Given the description of an element on the screen output the (x, y) to click on. 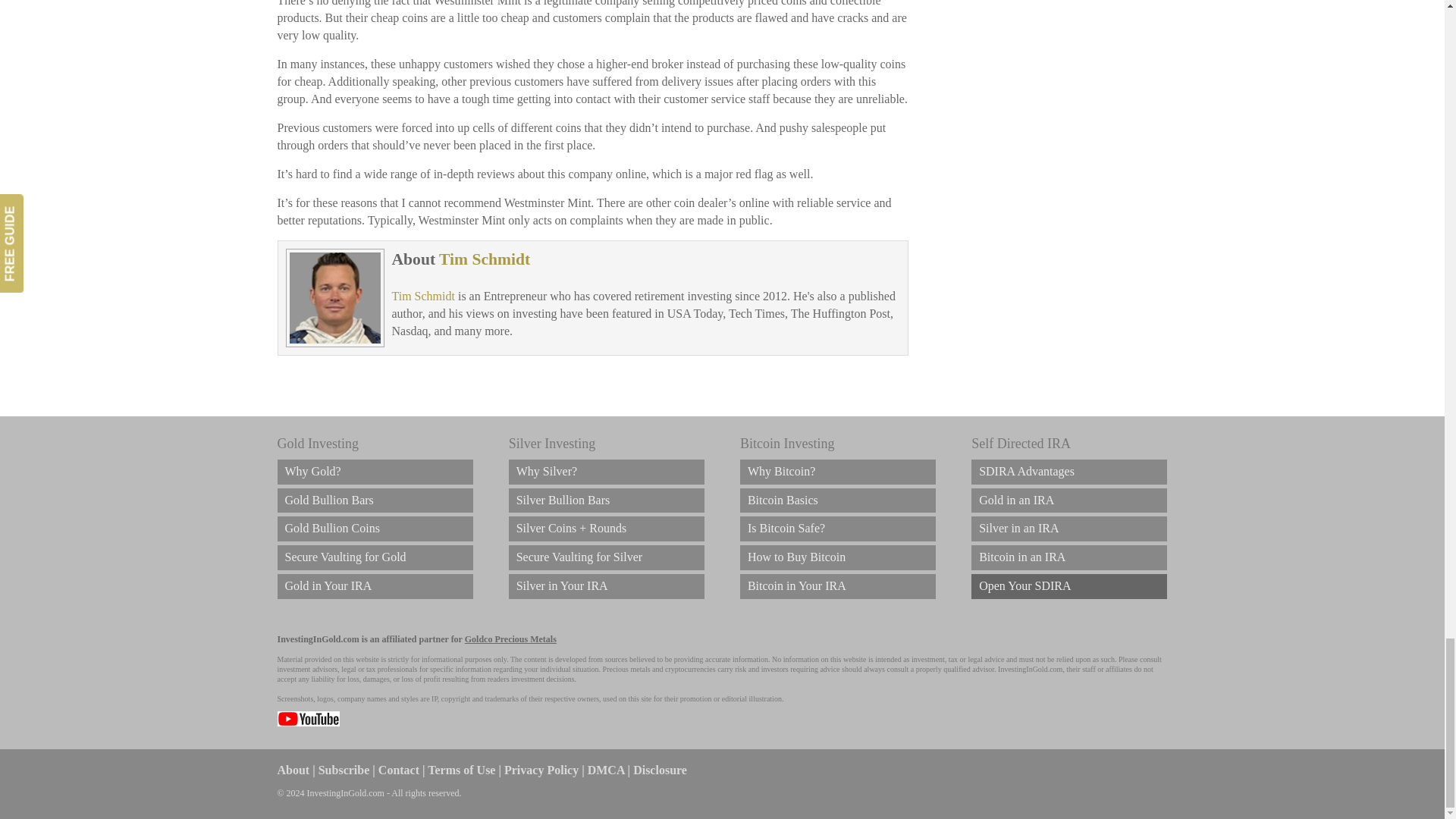
Gold Bullion Coins (375, 528)
Silver Bullion Bars (606, 500)
Subscribe (343, 769)
Gold in Your IRA (375, 586)
Why Gold? (375, 471)
Privacy (540, 769)
Tim Schmidt (422, 295)
Secure Vaulting for Gold (375, 557)
Tim Schmidt (484, 259)
Disclosure (660, 769)
Why Silver? (606, 471)
Secure Vaulting for Silver (606, 557)
About Scam Report (294, 769)
Privacy (606, 769)
Contact Us (398, 769)
